Given the description of an element on the screen output the (x, y) to click on. 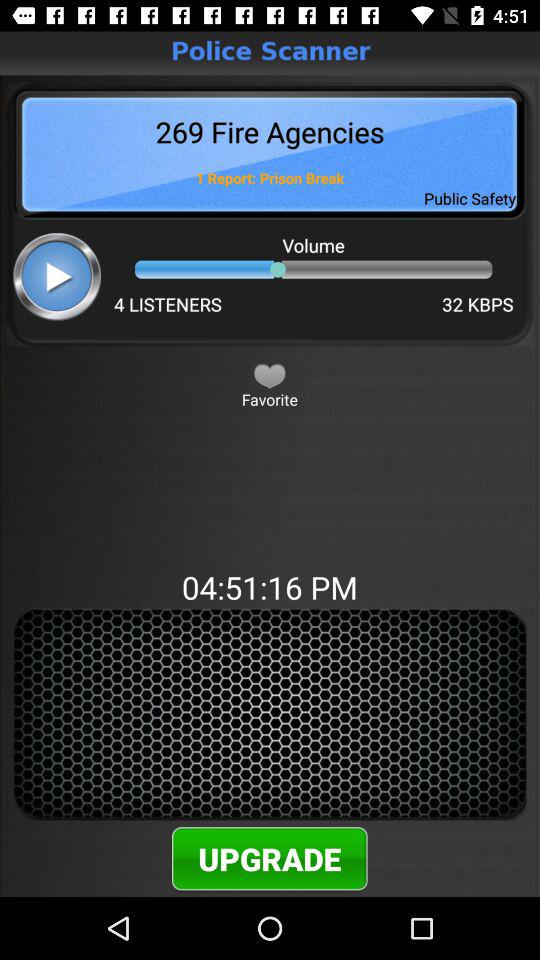
favorite (269, 375)
